Given the description of an element on the screen output the (x, y) to click on. 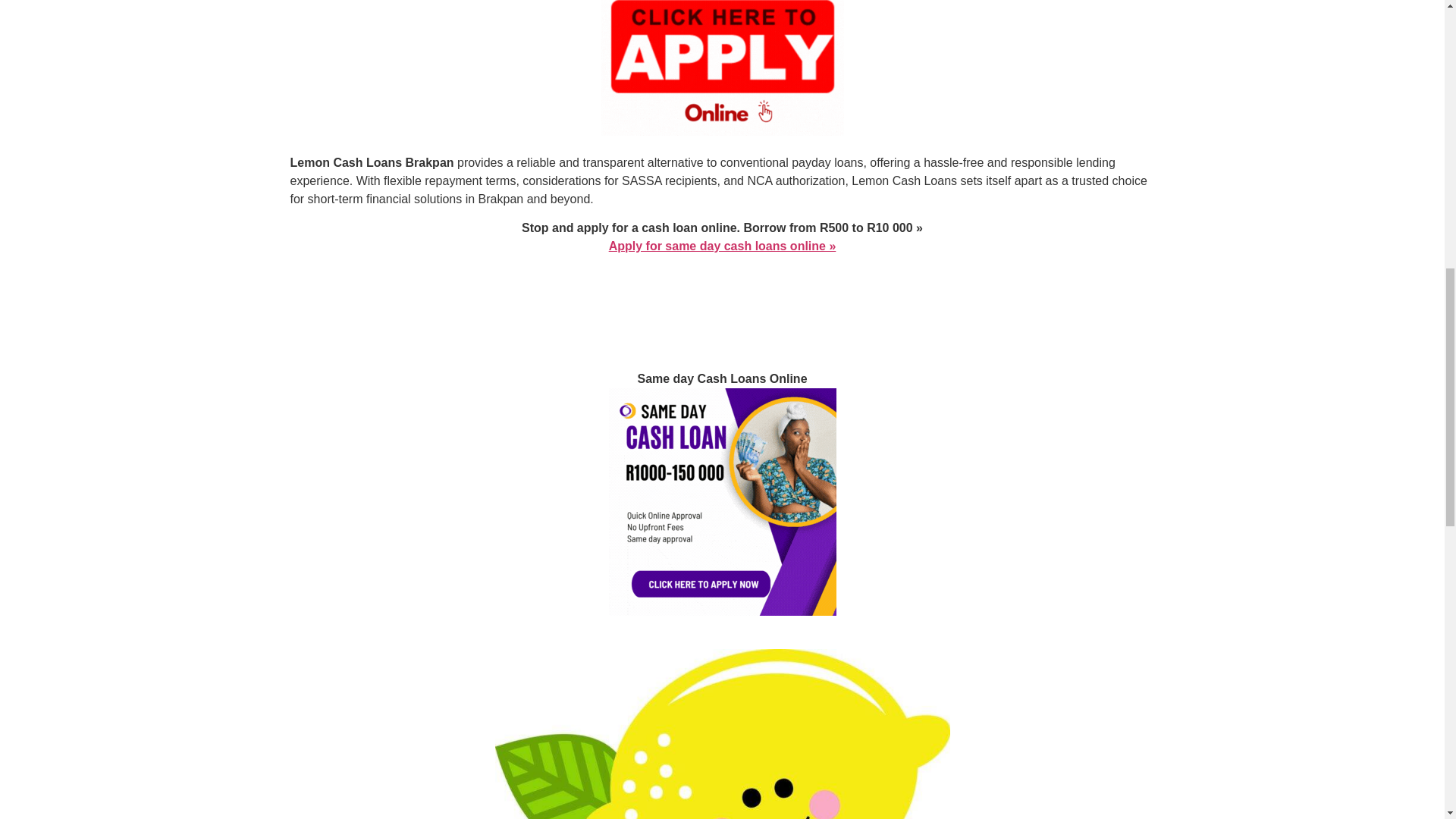
Advertisement (721, 293)
